Given the description of an element on the screen output the (x, y) to click on. 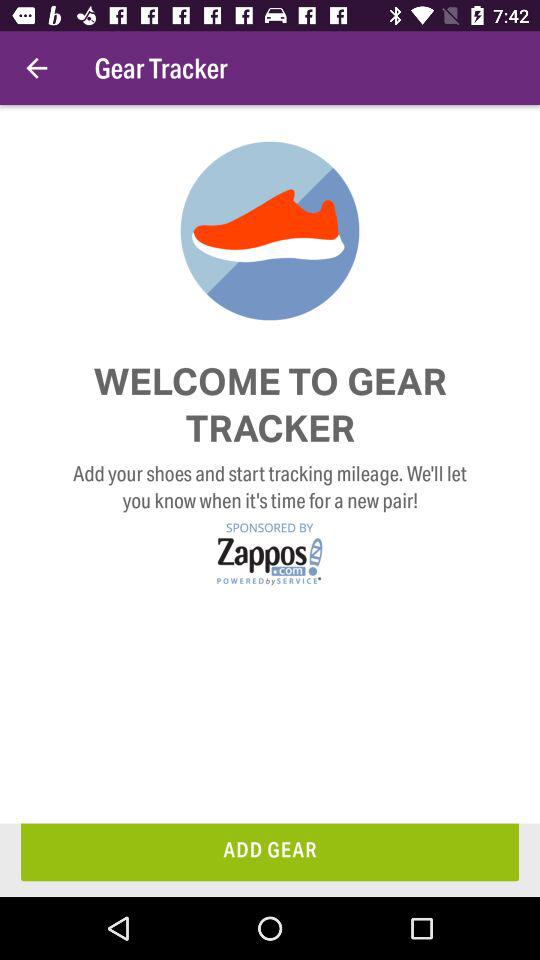
launch the icon to the left of the gear tracker item (36, 68)
